Given the description of an element on the screen output the (x, y) to click on. 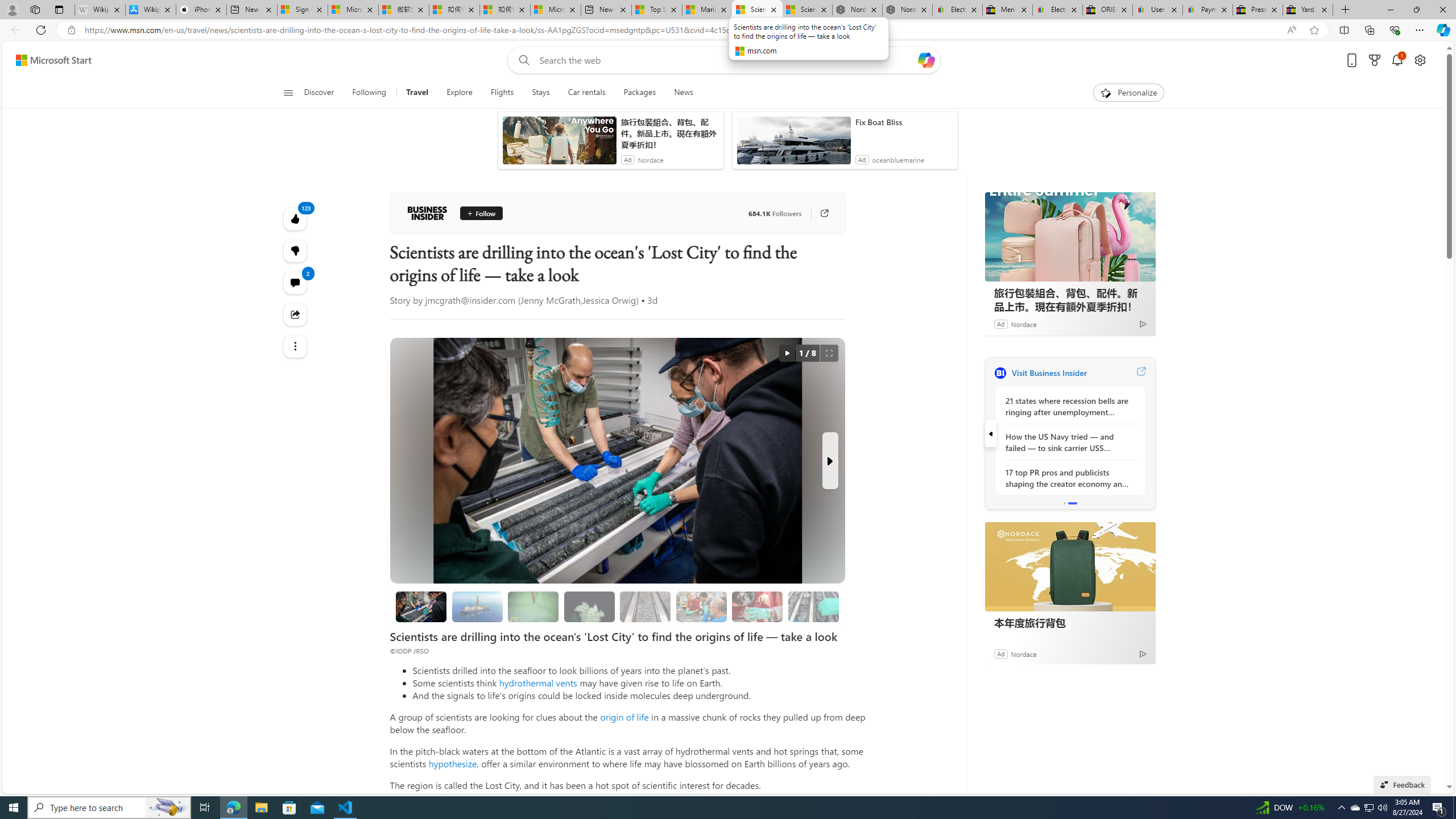
Follow (475, 213)
Looking for evidence of oxygen-free life (700, 606)
Marine life - MSN (706, 9)
Open navigation menu (287, 92)
